Given the description of an element on the screen output the (x, y) to click on. 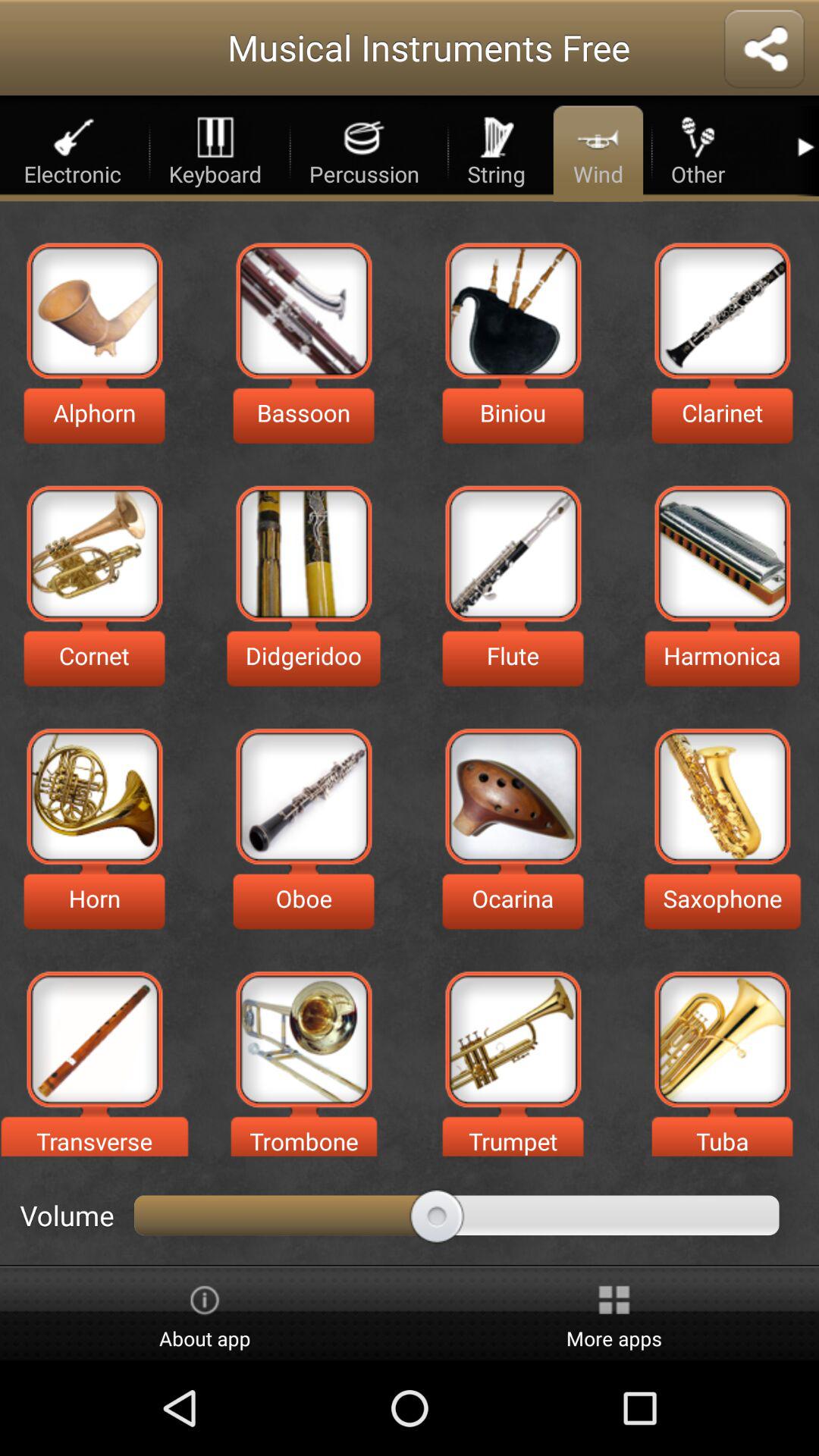
go to clarinet (722, 310)
